Given the description of an element on the screen output the (x, y) to click on. 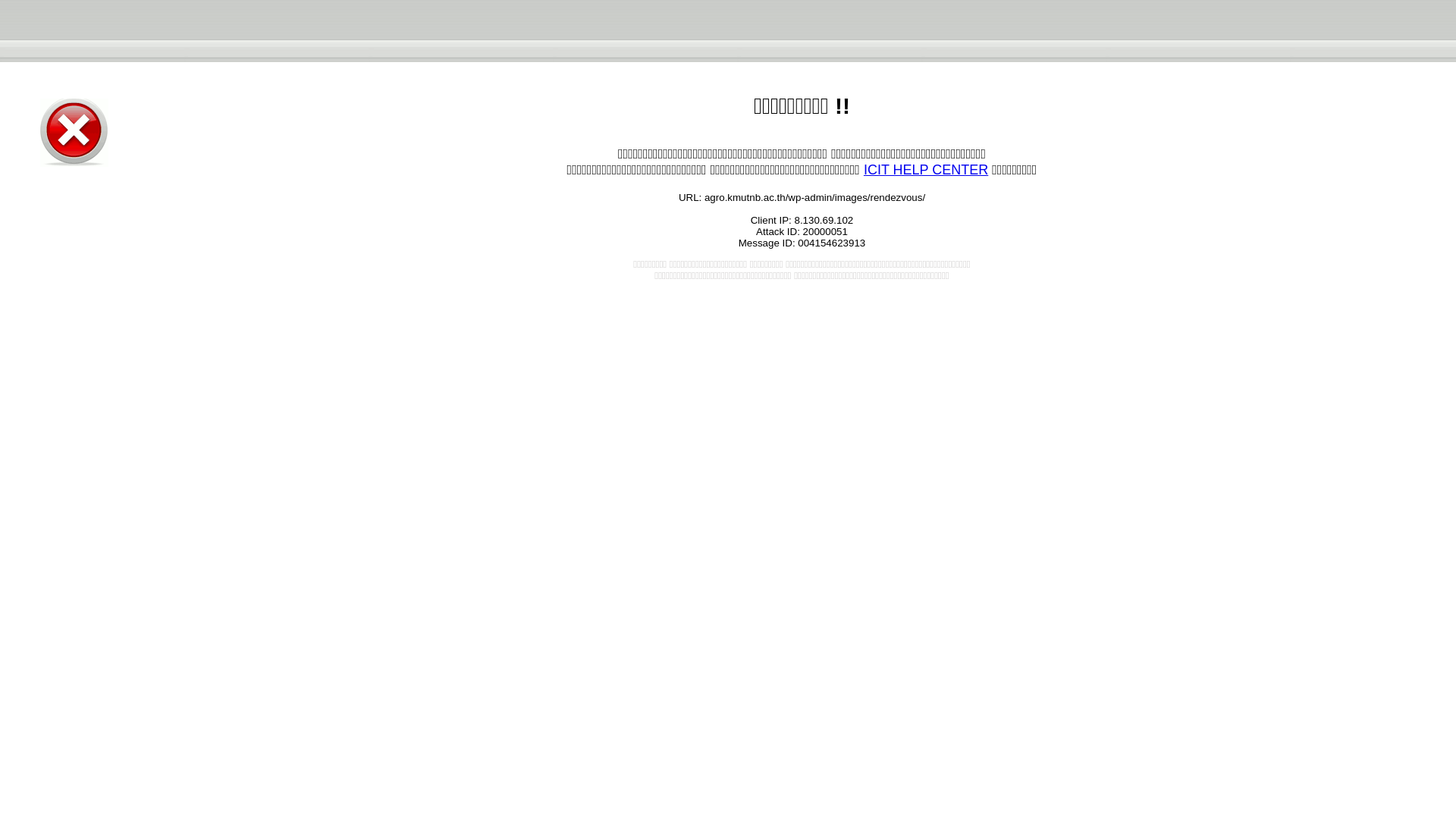
ICIT HELP CENTER (925, 169)
